Given the description of an element on the screen output the (x, y) to click on. 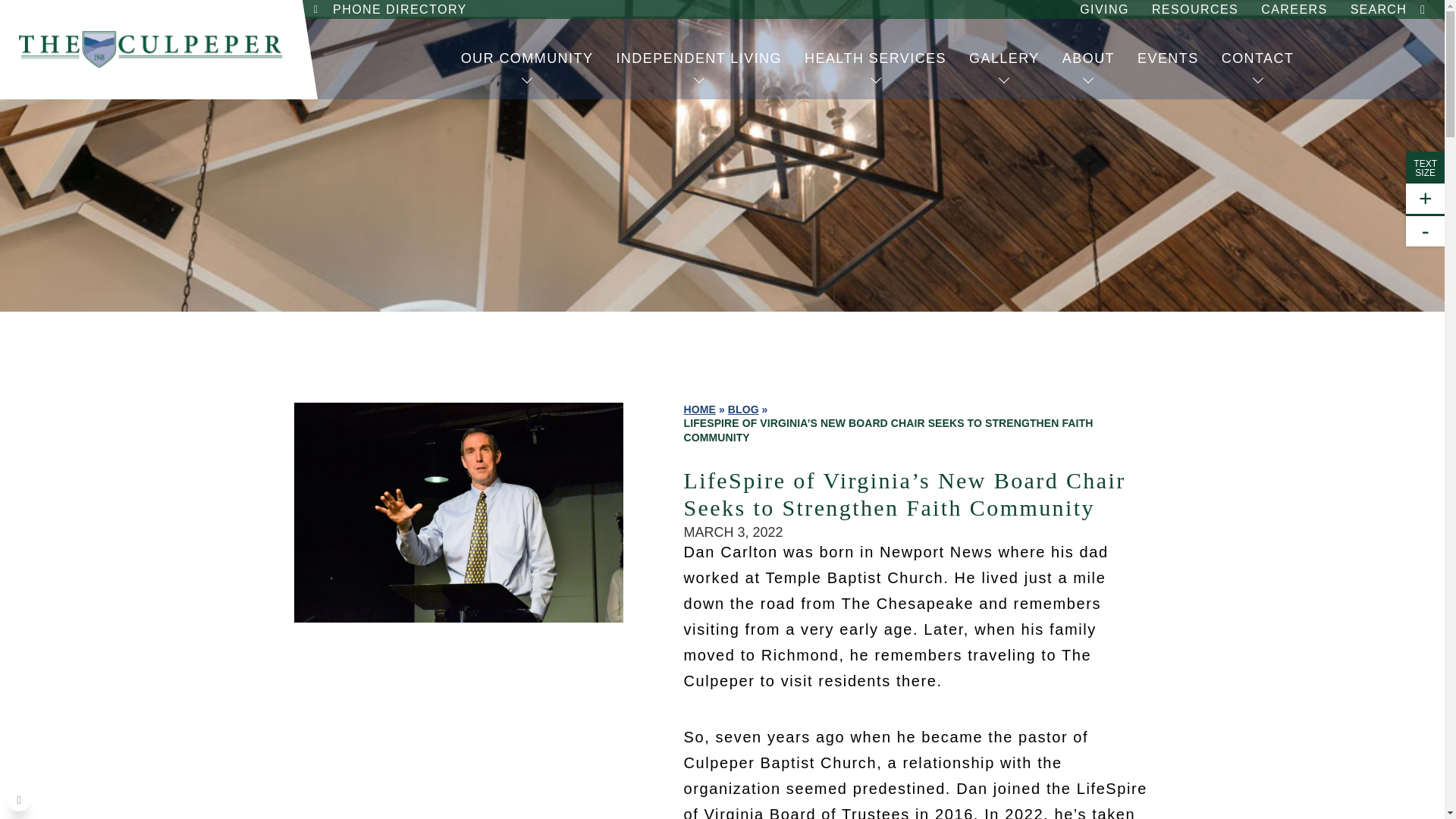
CAREERS (1293, 9)
The Culpeper (150, 49)
Main Office540-825-2411 (431, 33)
OUR COMMUNITY (527, 58)
BLOG (743, 409)
PHONE DIRECTORY (399, 9)
RESOURCES (1194, 9)
INDEPENDENT LIVING (698, 58)
GIVING (1104, 9)
HEALTH SERVICES (875, 58)
ABOUT (1088, 58)
CONTACT (1257, 58)
SEARCH (1382, 9)
HOME (700, 409)
GALLERY (1004, 58)
